Given the description of an element on the screen output the (x, y) to click on. 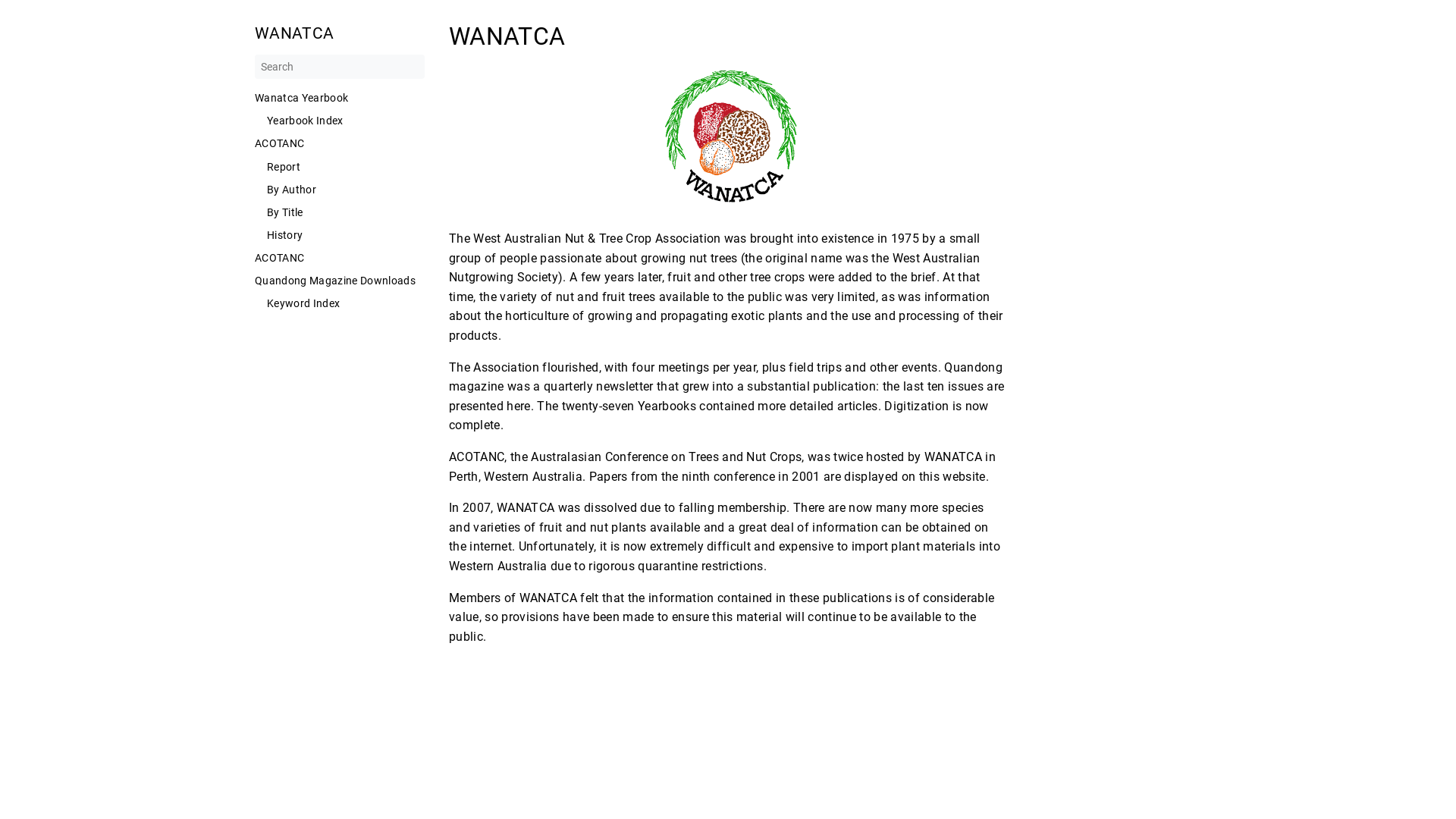
ACOTANC Element type: text (339, 257)
Quandong Magazine Downloads Element type: text (339, 280)
History Element type: text (345, 235)
Keyword Index Element type: text (345, 303)
ACOTANC Element type: text (339, 143)
By Author Element type: text (345, 189)
Yearbook Index Element type: text (345, 120)
WANATCA Element type: text (339, 33)
Wanatca Yearbook Element type: text (339, 97)
Report Element type: text (345, 166)
By Title Element type: text (345, 212)
